Given the description of an element on the screen output the (x, y) to click on. 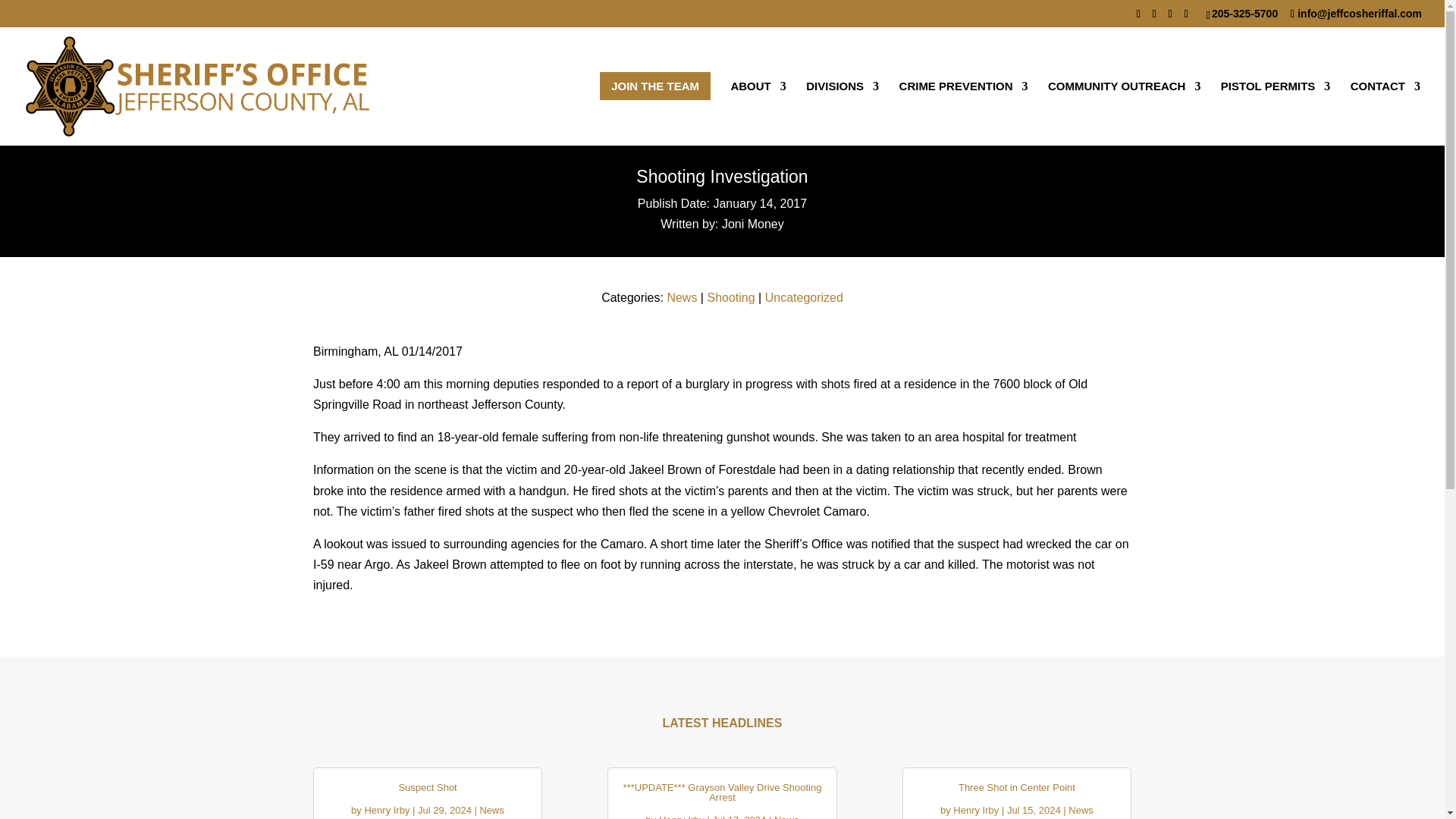
CRIME PREVENTION (963, 113)
DIVISIONS (842, 113)
205-325-5700 (1247, 13)
COMMUNITY OUTREACH (1123, 113)
Posts by Henry Irby (975, 809)
Posts by Henry Irby (681, 816)
JOIN THE TEAM (654, 113)
Posts by Henry Irby (386, 809)
